Given the description of an element on the screen output the (x, y) to click on. 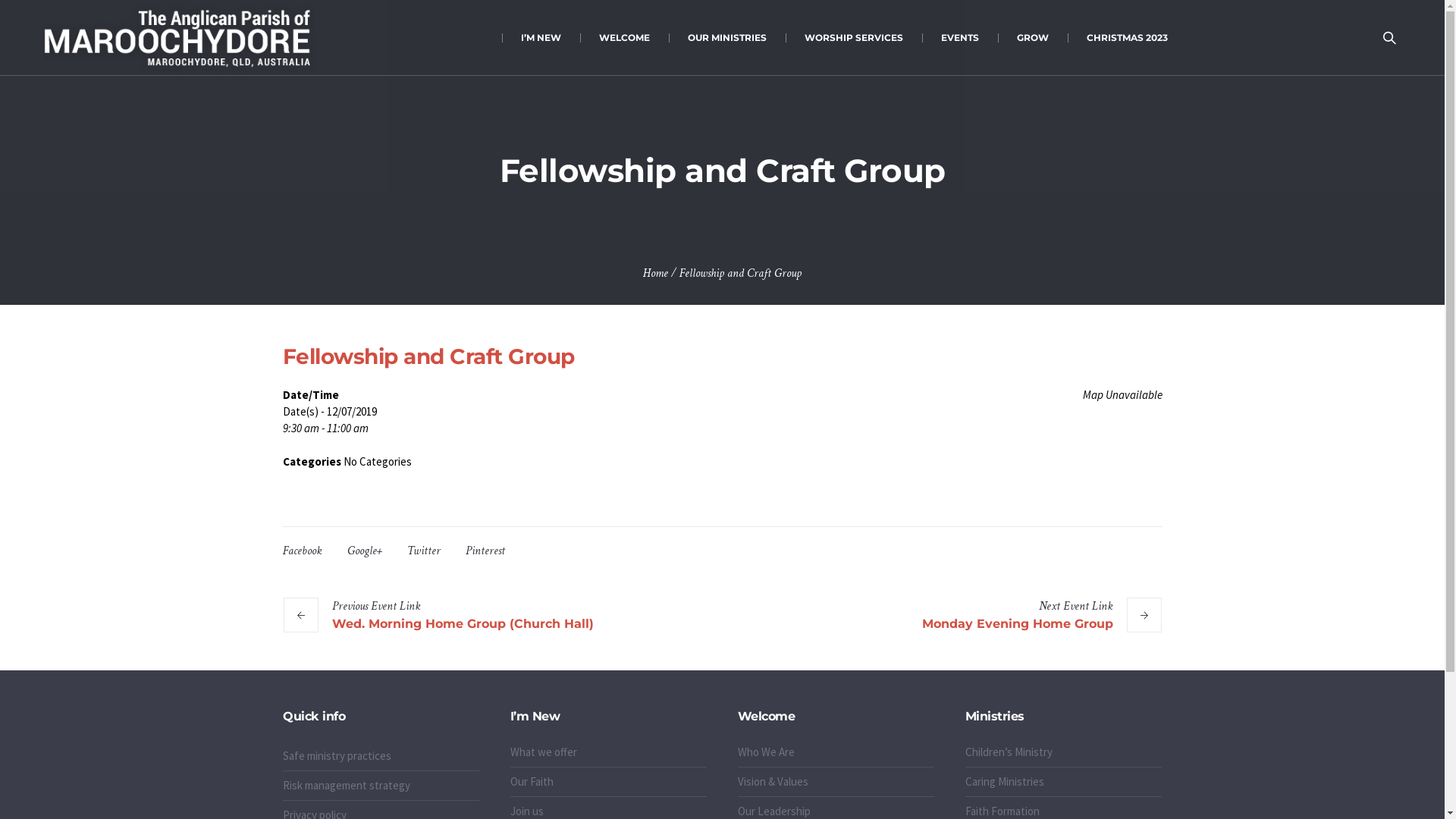
Google+ Element type: text (364, 550)
What we offer Element type: text (543, 751)
Who We Are Element type: text (765, 751)
CHRISTMAS 2023 Element type: text (1126, 37)
Safe ministry practices Element type: text (336, 755)
Caring Ministries Element type: text (1004, 781)
Wed. Morning Home Group (Church Hall) Element type: text (437, 614)
Our Faith Element type: text (531, 781)
GROW Element type: text (1032, 37)
Monday Evening Home Group Element type: text (1042, 614)
Join us Element type: text (526, 810)
Vision & Values Element type: text (772, 781)
Twitter Element type: text (422, 550)
Facebook Element type: text (301, 550)
Pinterest Element type: text (485, 550)
WORSHIP SERVICES Element type: text (853, 37)
WELCOME Element type: text (624, 37)
OUR MINISTRIES Element type: text (726, 37)
Home Element type: text (655, 273)
Our Leadership Element type: text (773, 810)
Risk management strategy Element type: text (346, 785)
Faith Formation Element type: text (1002, 810)
EVENTS Element type: text (959, 37)
